Given the description of an element on the screen output the (x, y) to click on. 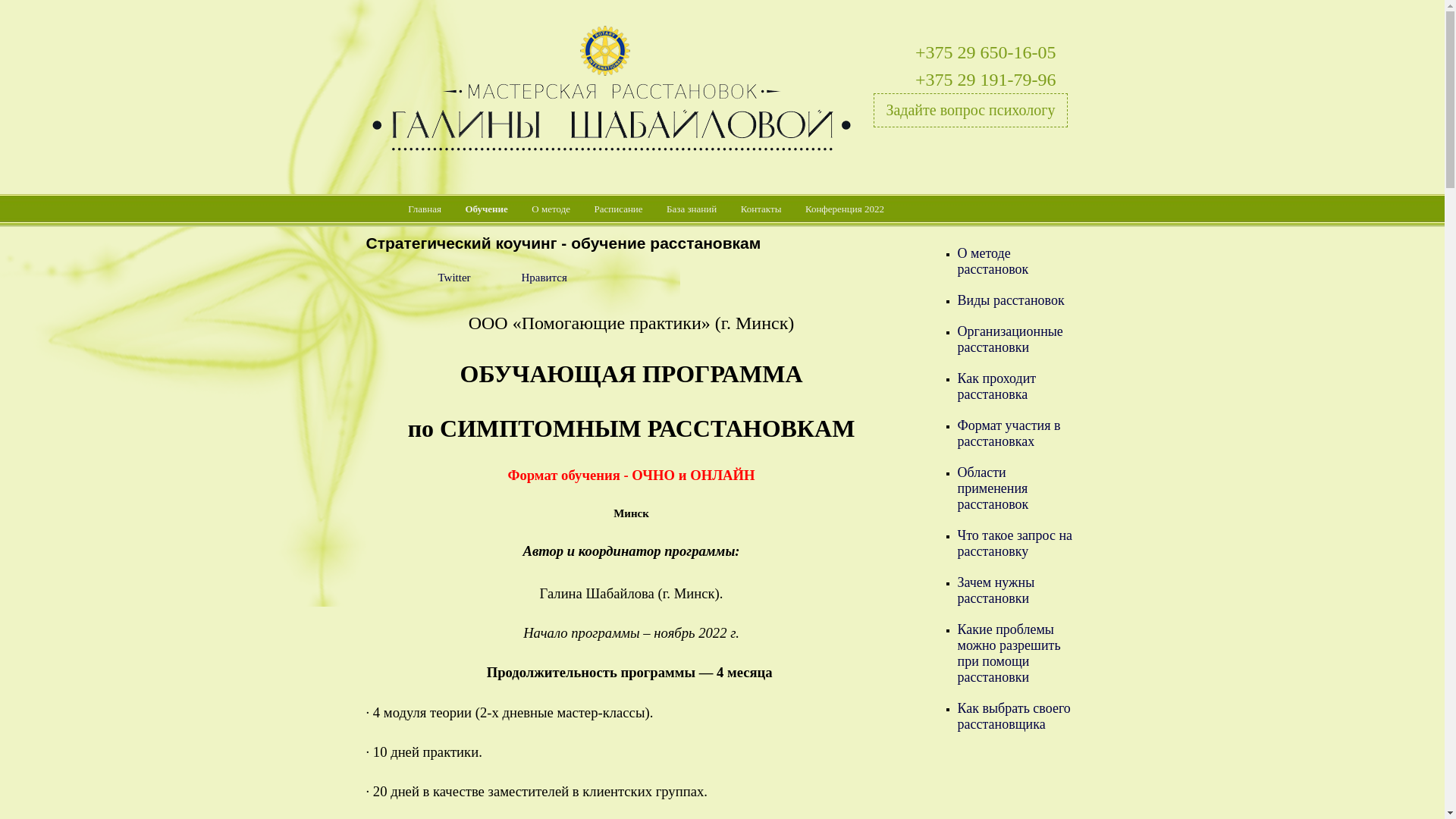
Twitter Element type: text (454, 277)
